Given the description of an element on the screen output the (x, y) to click on. 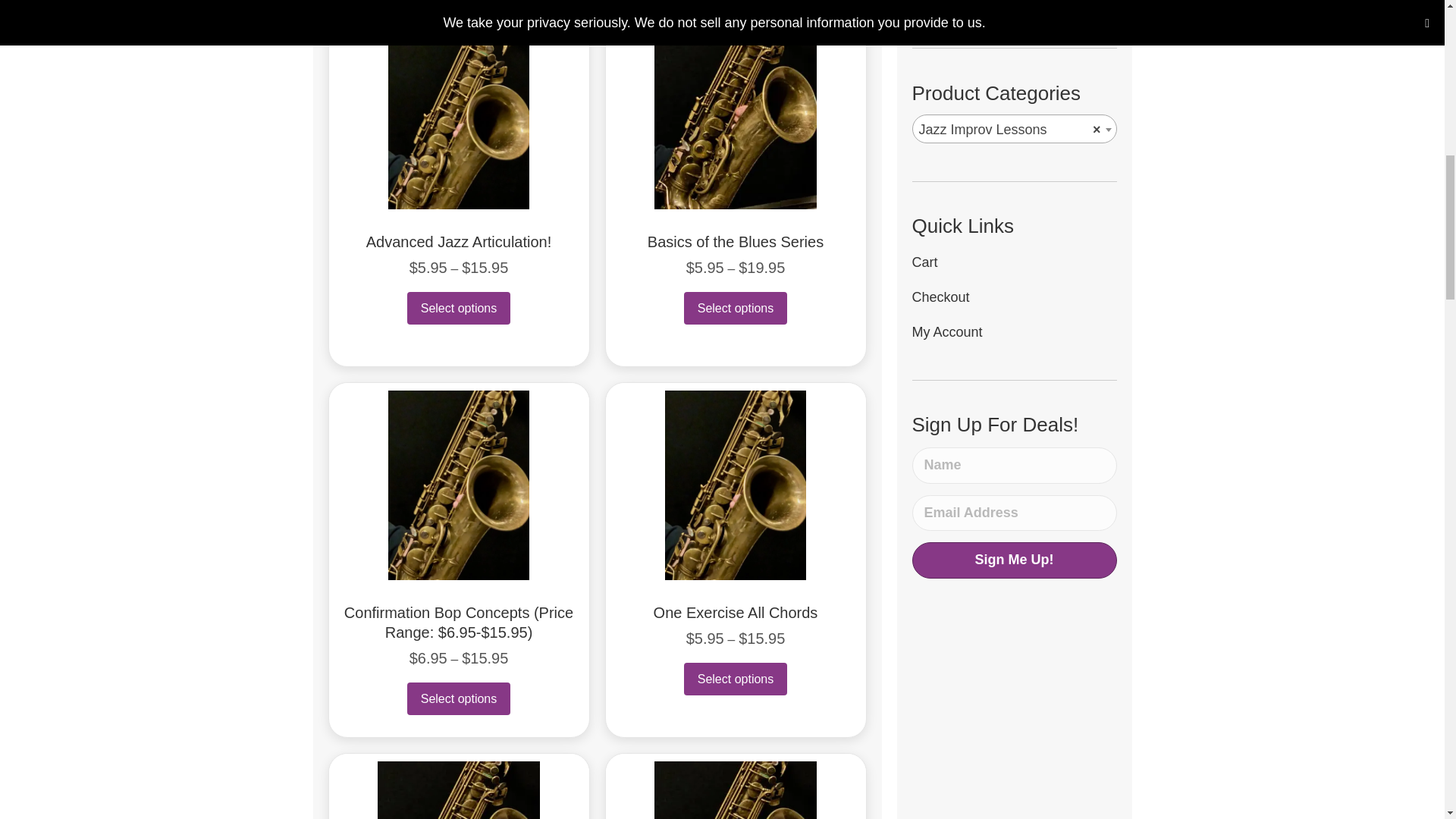
Select options (459, 307)
One Exercise All Chords (735, 484)
One Exercise All Chords (735, 612)
Advanced Jazz Articulation! (458, 241)
Select options (735, 678)
Select options (459, 698)
Advanced Jazz Articulation! (458, 113)
Advanced Jazz Articulation! (458, 241)
Basics of the Blues Series (735, 241)
Select options (735, 307)
Basics of the Blues Series (735, 241)
One Exercise All Chords (735, 612)
Basics of the Blues Series (734, 113)
